Given the description of an element on the screen output the (x, y) to click on. 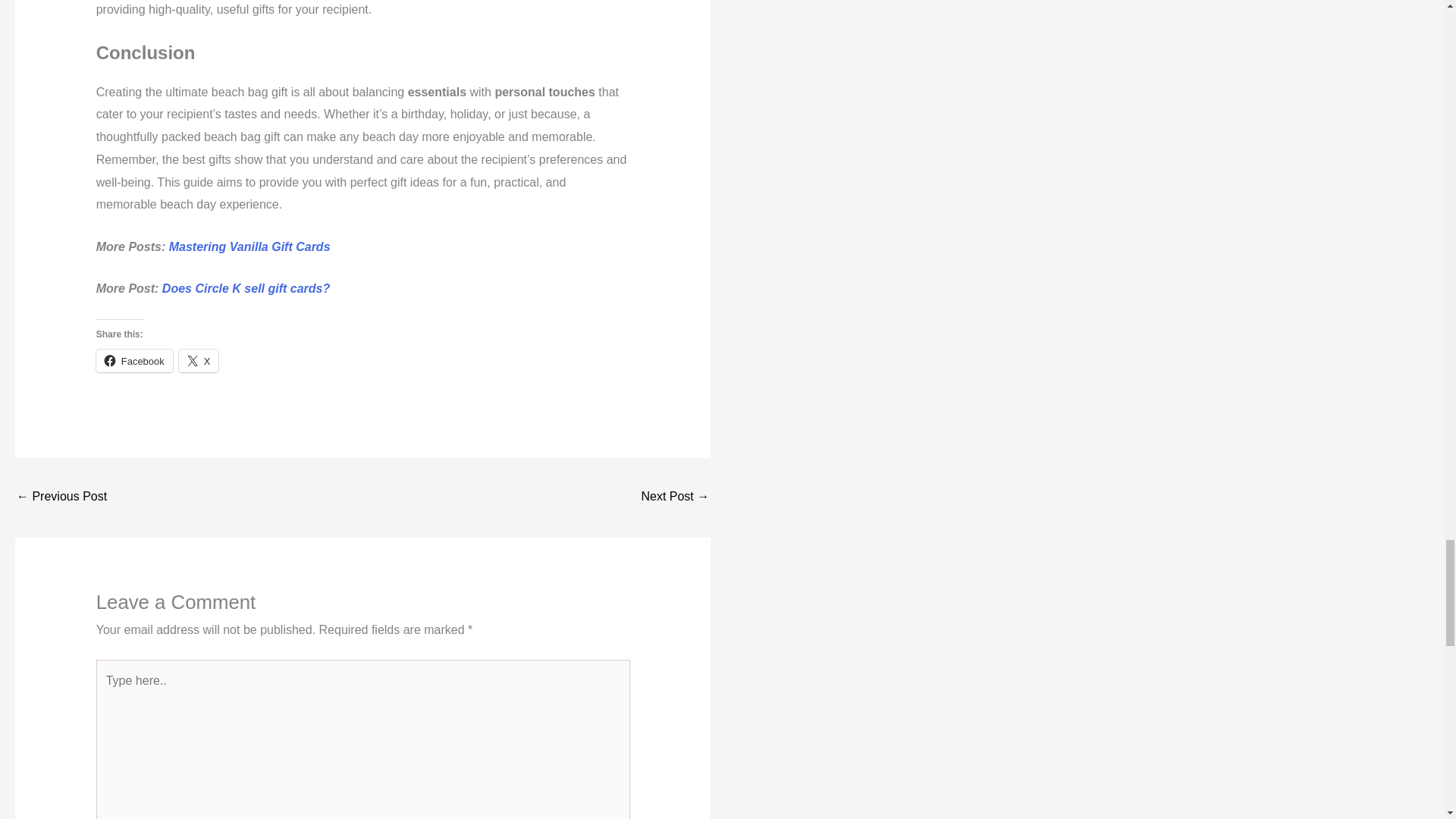
Click to share on Facebook (134, 359)
Click to share on X (199, 359)
How do you gift Robux on mobile? (61, 497)
Where do I get gift boxes for clothes? (674, 497)
